Given the description of an element on the screen output the (x, y) to click on. 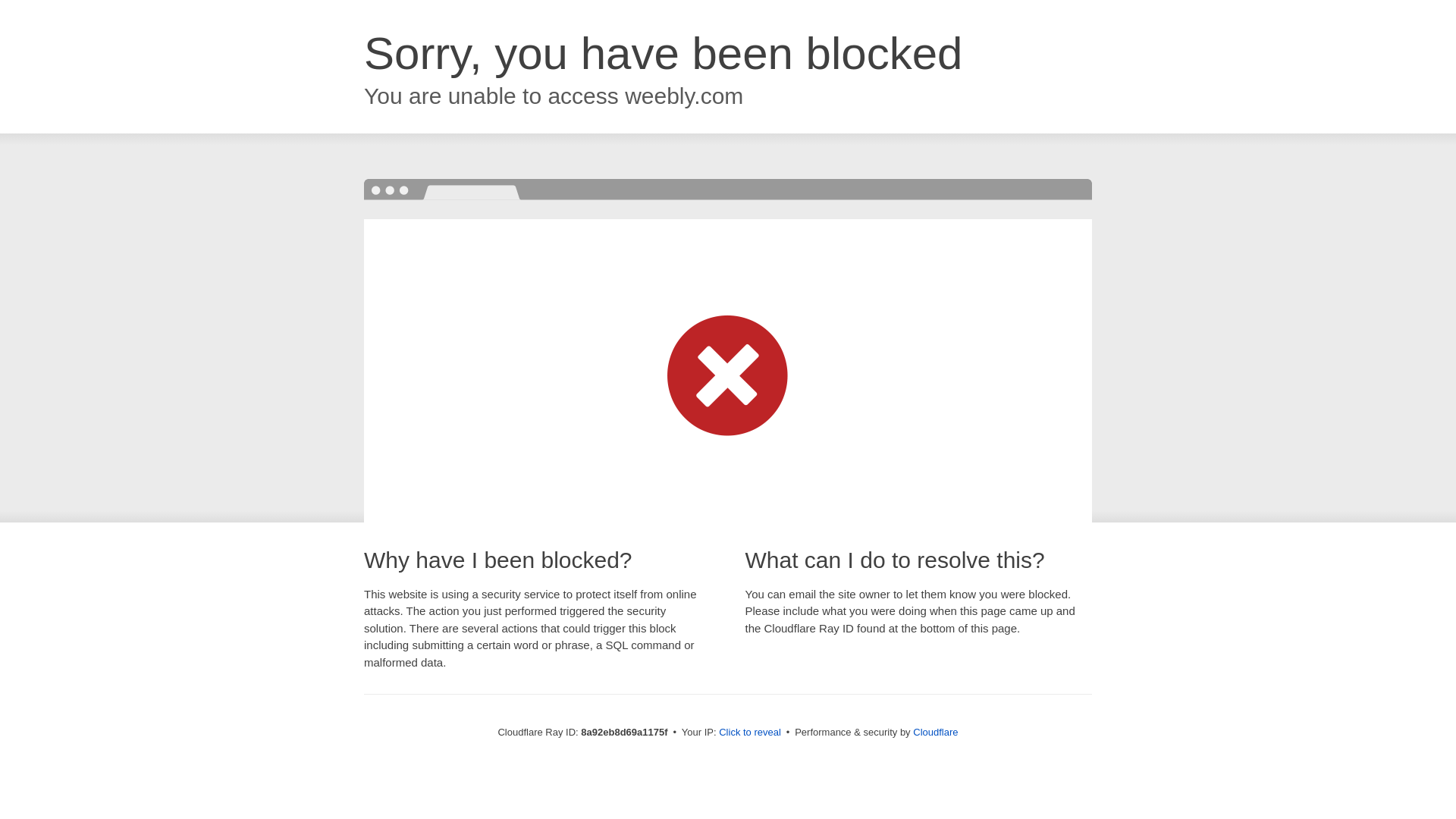
Cloudflare (935, 731)
Click to reveal (749, 732)
